Given the description of an element on the screen output the (x, y) to click on. 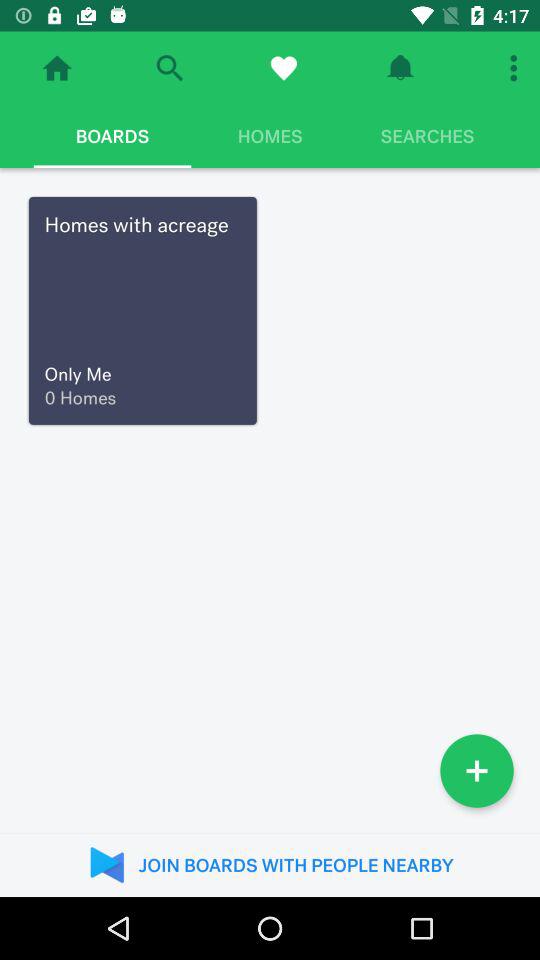
jump until the searches item (427, 136)
